Given the description of an element on the screen output the (x, y) to click on. 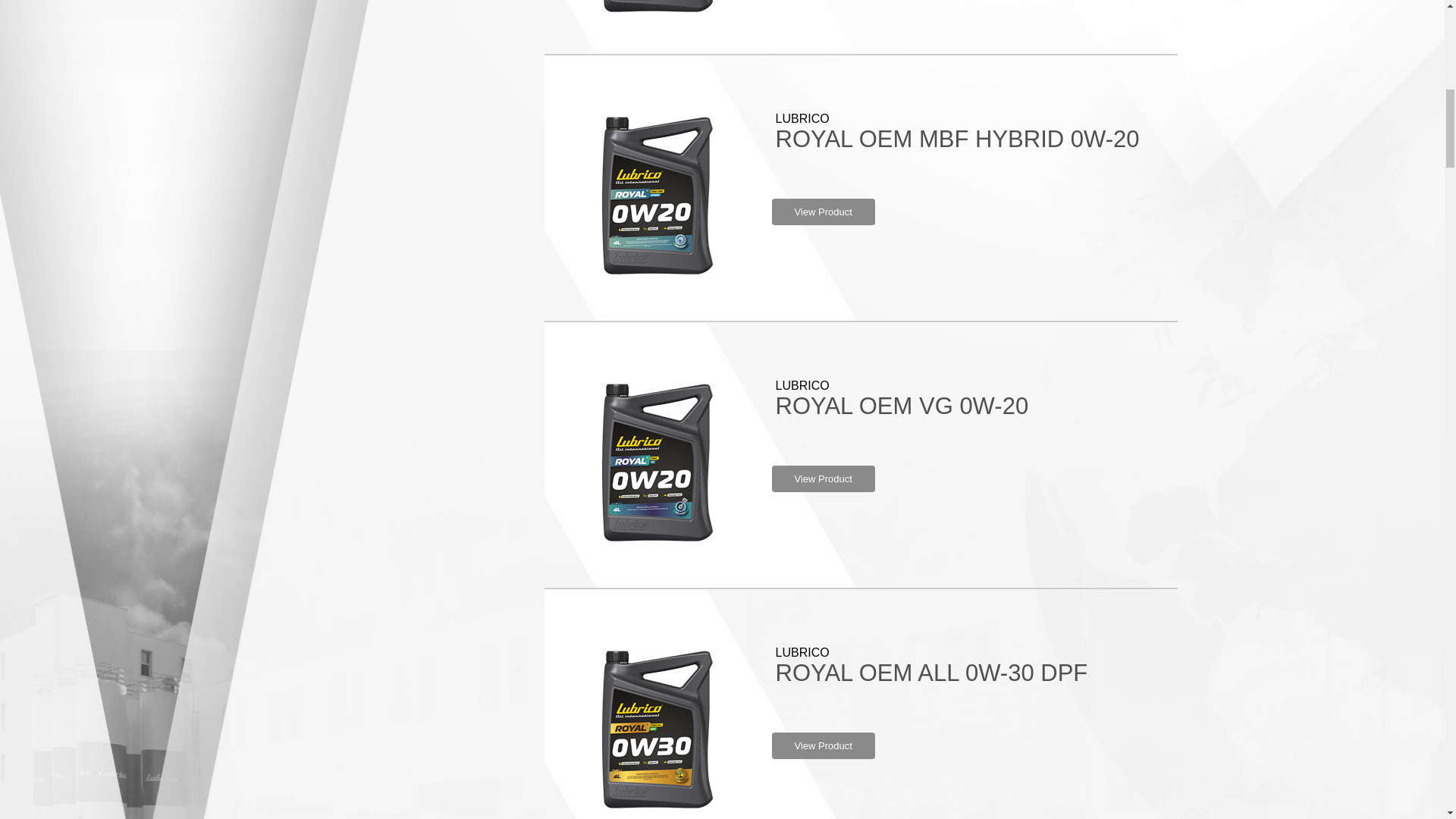
ROYAL OEM ALL 0W-30 DPF (930, 673)
View Product (823, 745)
ROYAL OEM MBF HYBRID 0W-20 (956, 139)
View Product (823, 212)
View Product (823, 479)
ROYAL OEM VG 0W-20 (900, 406)
